Given the description of an element on the screen output the (x, y) to click on. 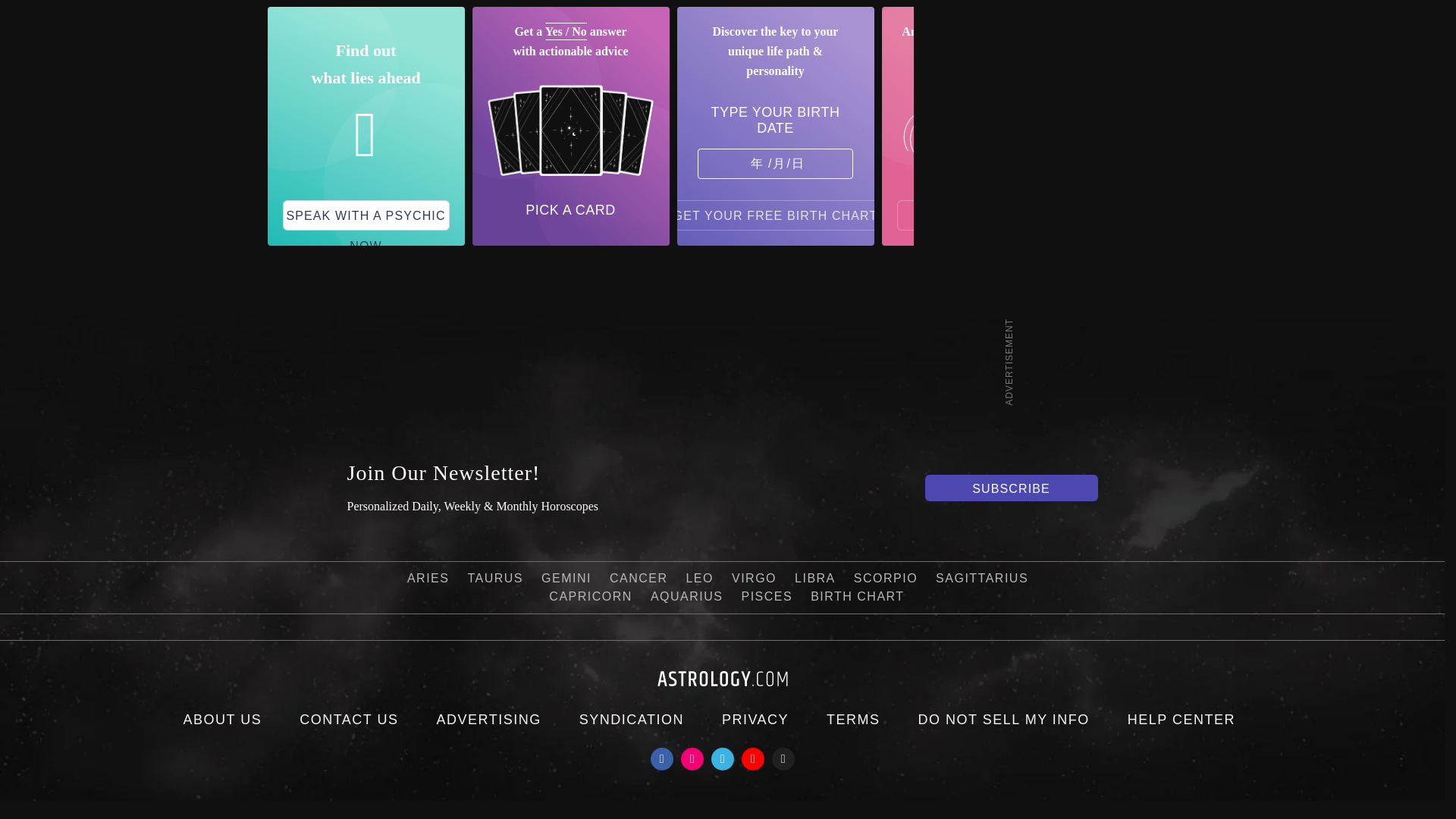
Get your free birth chart (775, 214)
